Given the description of an element on the screen output the (x, y) to click on. 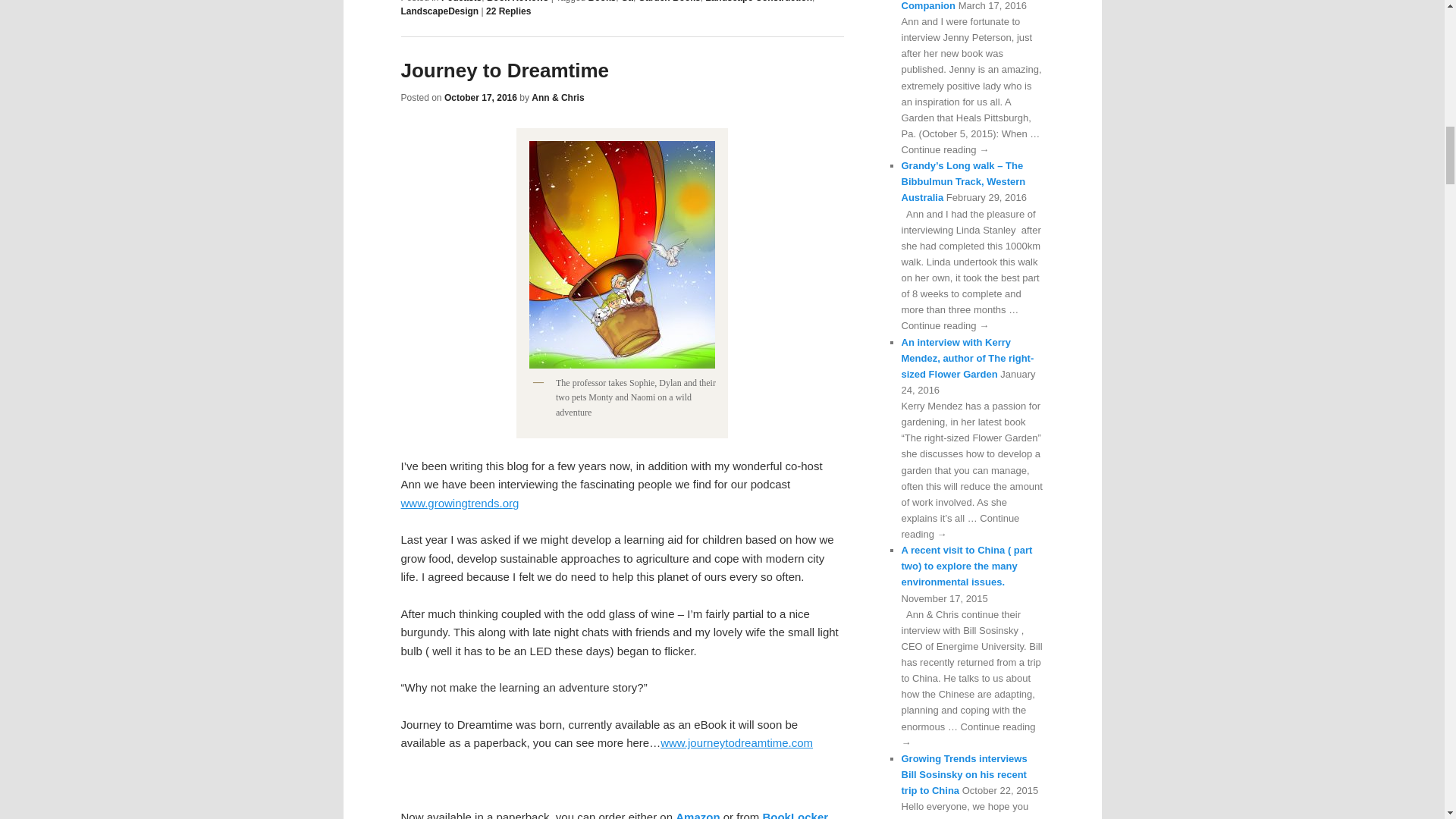
Books (601, 1)
Journey to Dreamtime (504, 69)
BookLocker (793, 814)
Amazon (697, 814)
22 Replies (508, 10)
www.journeytodreamtime.com (736, 742)
October 17, 2016 (480, 97)
Landscape Construction (758, 1)
Book Reviews (517, 1)
www.growingtrends.org (459, 502)
